Given the description of an element on the screen output the (x, y) to click on. 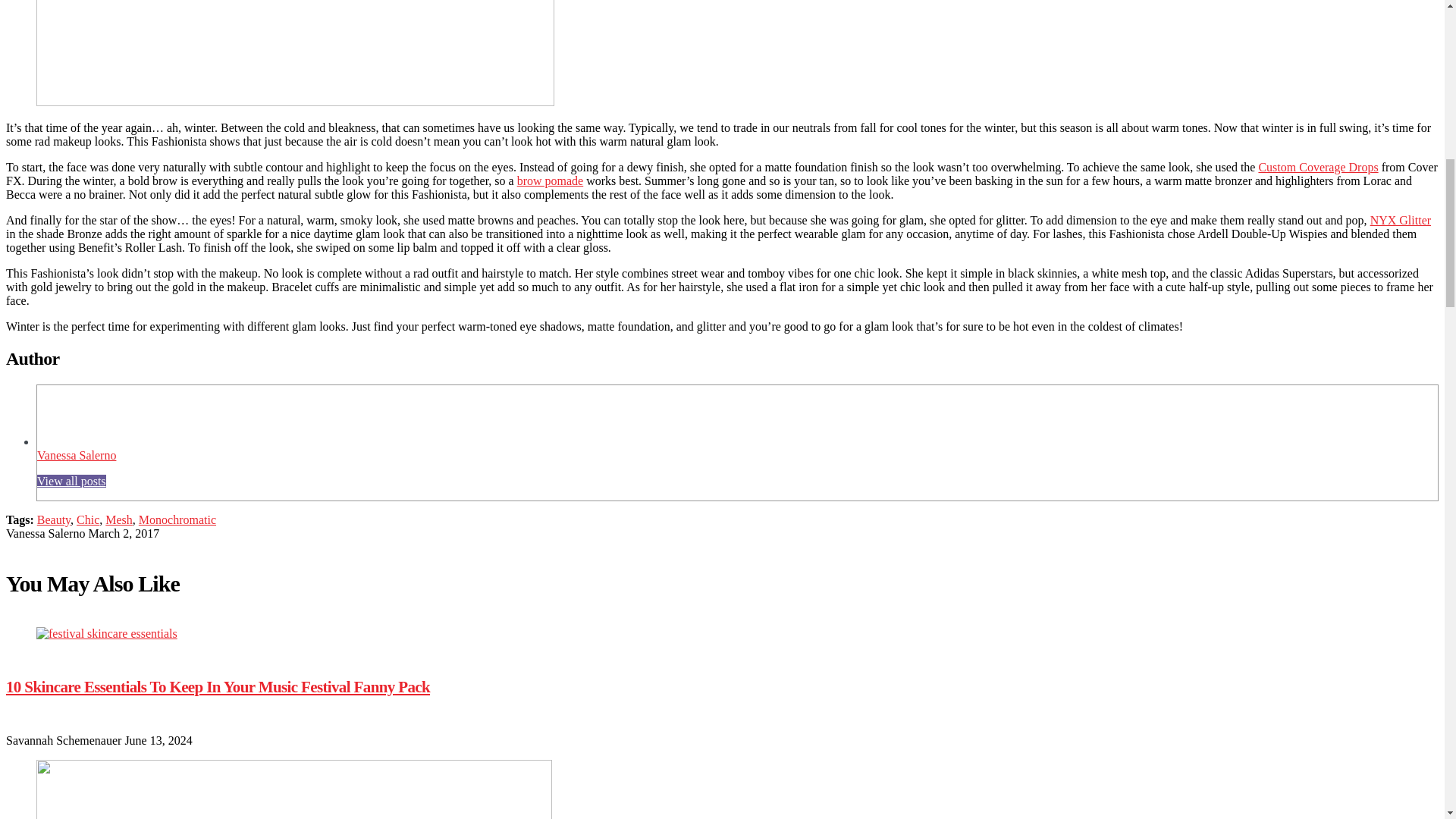
brow pomade (549, 180)
BEAUTY BAR: Puttin' On The Glitz 3 (67, 414)
Vanessa Salerno (76, 454)
Custom Coverage Drops (1317, 166)
NYX Glitter (1400, 219)
View all posts (71, 481)
View all posts (71, 481)
BEAUTY BAR: Puttin' On The Glitz 1 (295, 53)
Vanessa Salerno (76, 454)
